Given the description of an element on the screen output the (x, y) to click on. 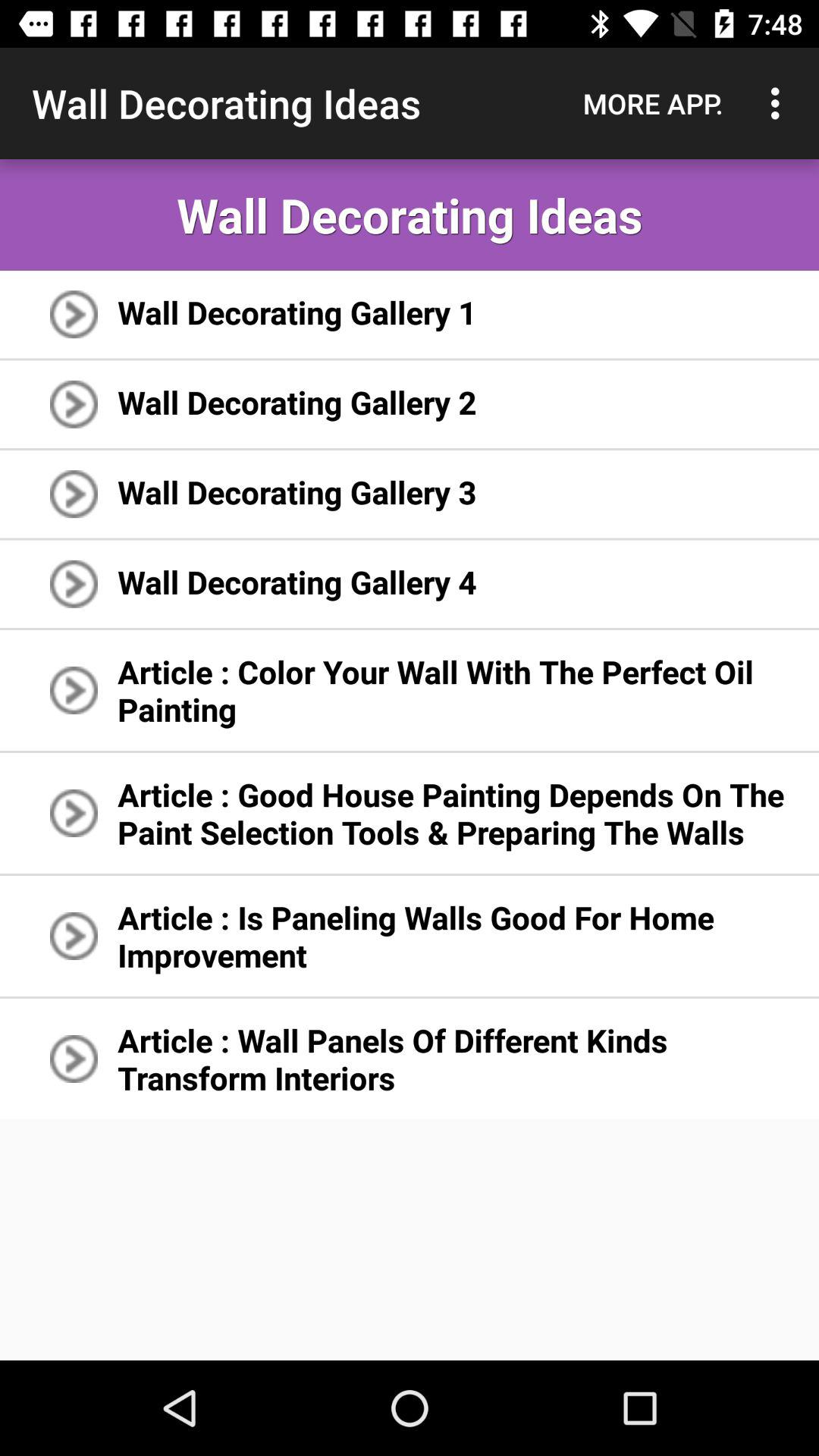
select app above wall decorating ideas icon (653, 103)
